Given the description of an element on the screen output the (x, y) to click on. 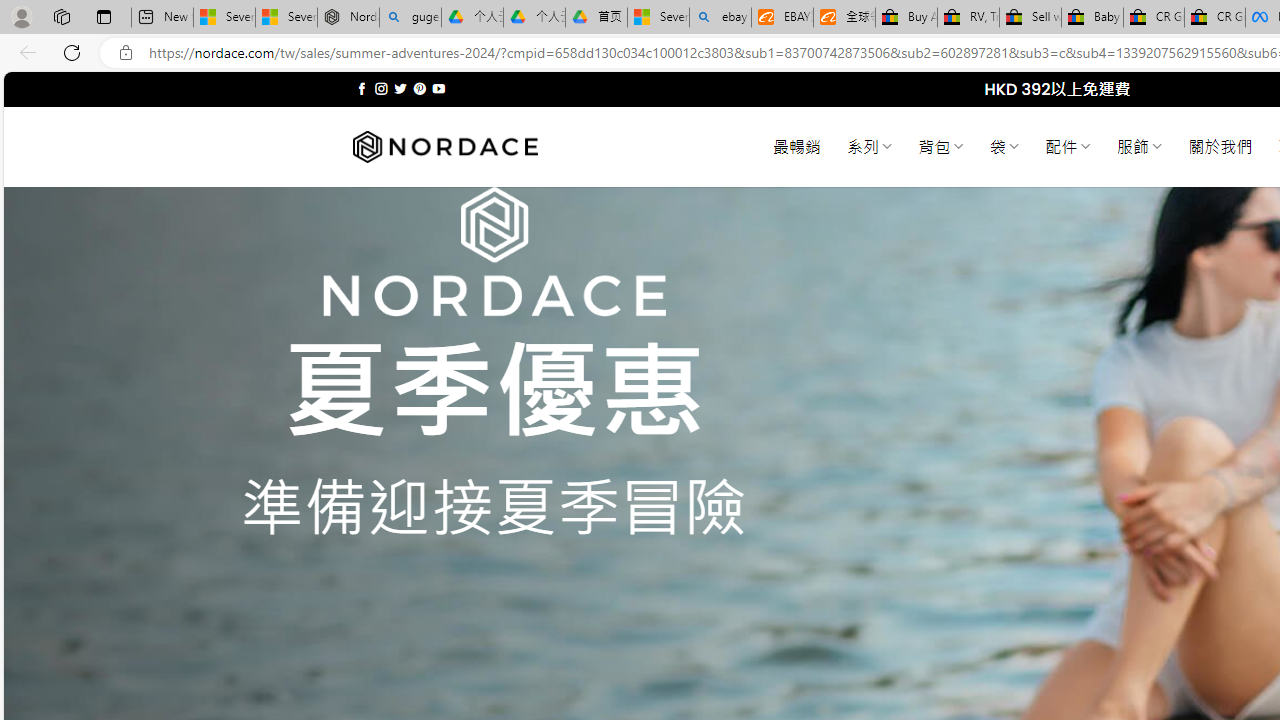
RV, Trailer & Camper Steps & Ladders for sale | eBay (968, 17)
Follow on Twitter (400, 88)
Follow on YouTube (438, 88)
Sell worldwide with eBay (1030, 17)
Follow on Instagram (381, 88)
